Given the description of an element on the screen output the (x, y) to click on. 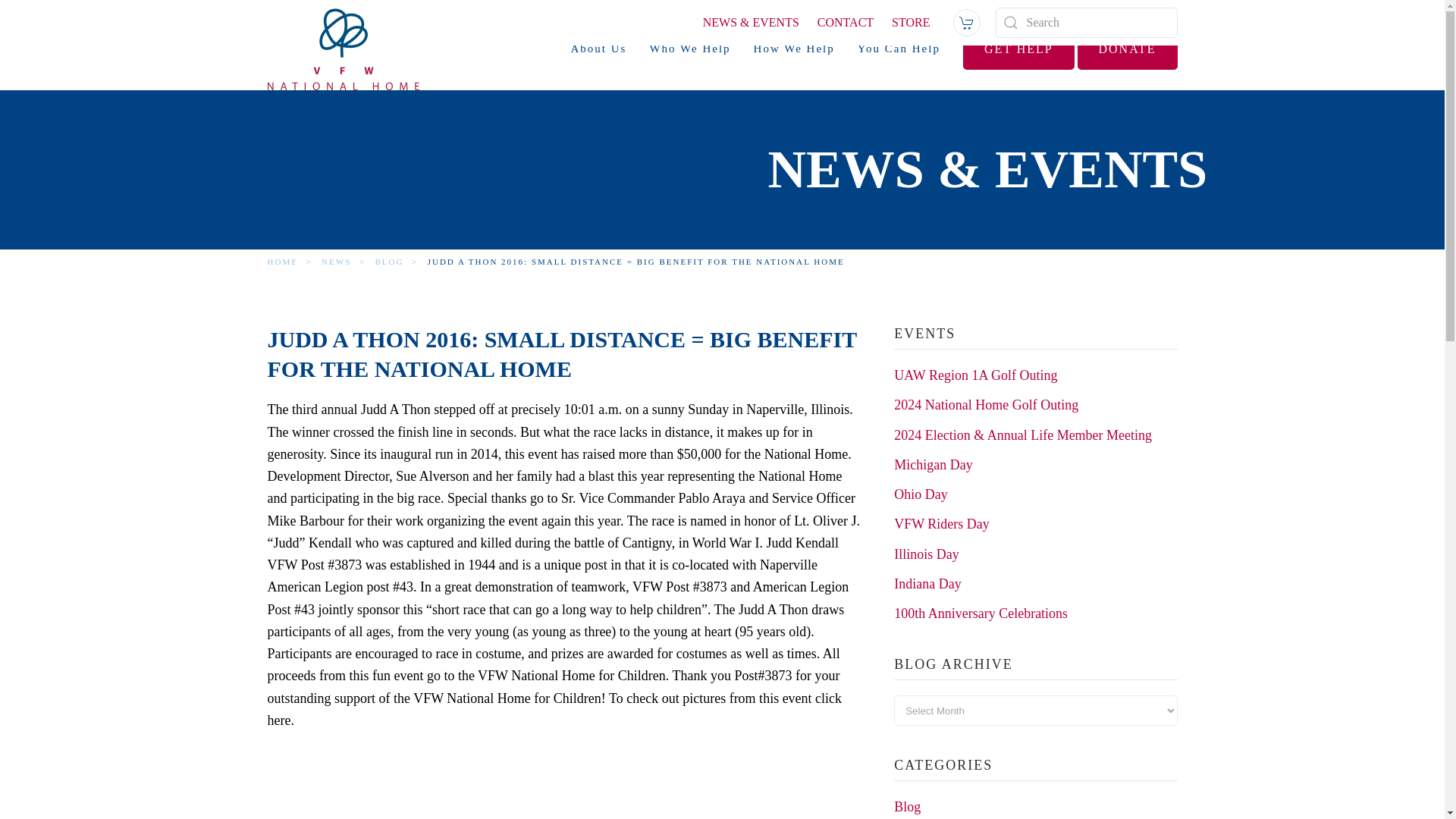
About Us (598, 48)
STORE (910, 21)
You Can Help (898, 48)
How We Help (794, 48)
CONTACT (844, 21)
Who We Help (689, 48)
